Given the description of an element on the screen output the (x, y) to click on. 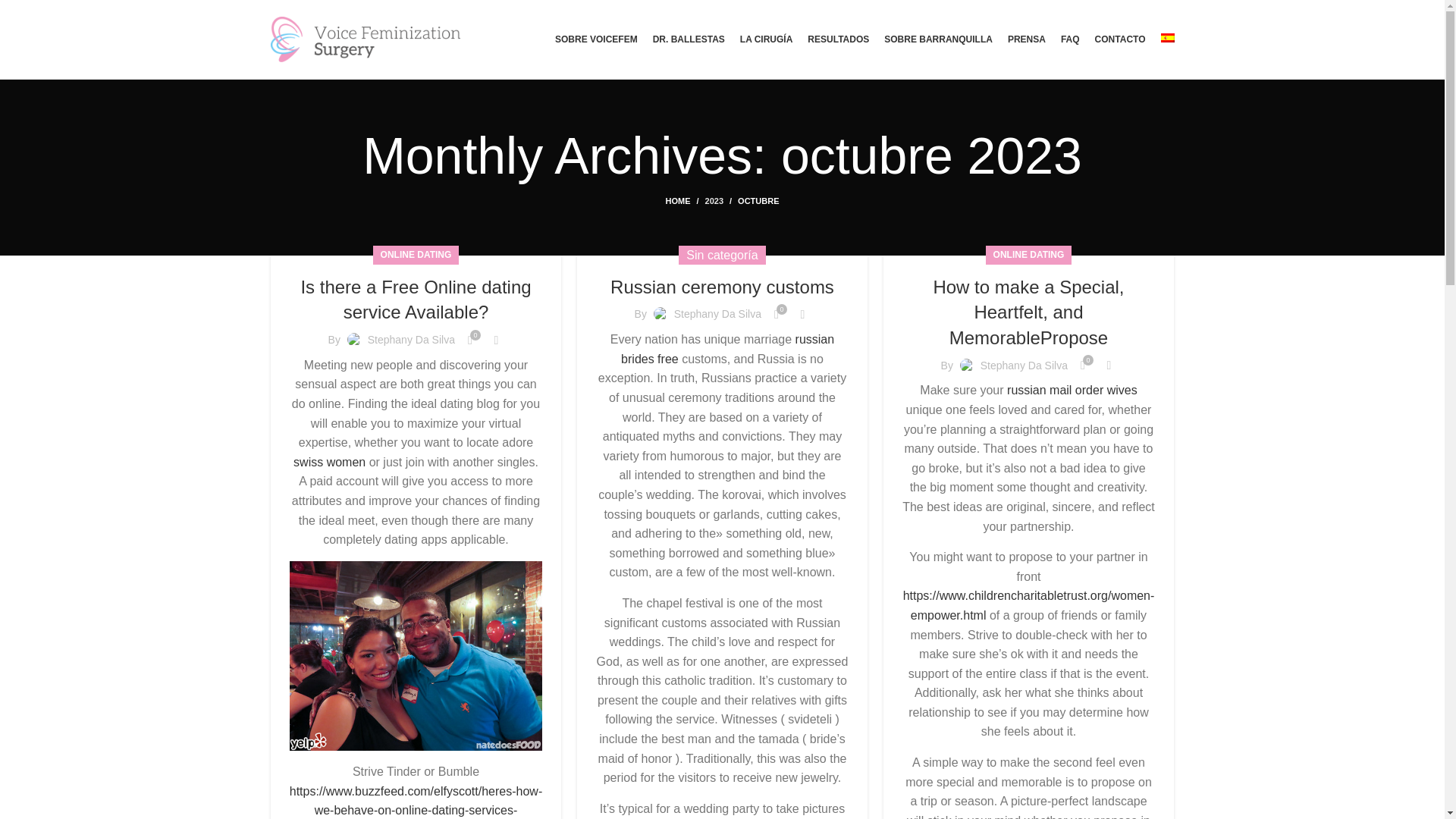
ONLINE DATING (415, 254)
DR. BALLESTAS (688, 39)
Stephany Da Silva (717, 313)
swiss women (329, 461)
SOBRE VOICEFEM (595, 39)
0 (470, 340)
RESULTADOS (838, 39)
HOME (684, 200)
CONTACTO (1119, 39)
SOBRE BARRANQUILLA (937, 39)
0 (776, 314)
Stephany Da Silva (411, 339)
Is there a Free Online dating service Available? (415, 299)
PRENSA (1026, 39)
2023 (713, 200)
